Given the description of an element on the screen output the (x, y) to click on. 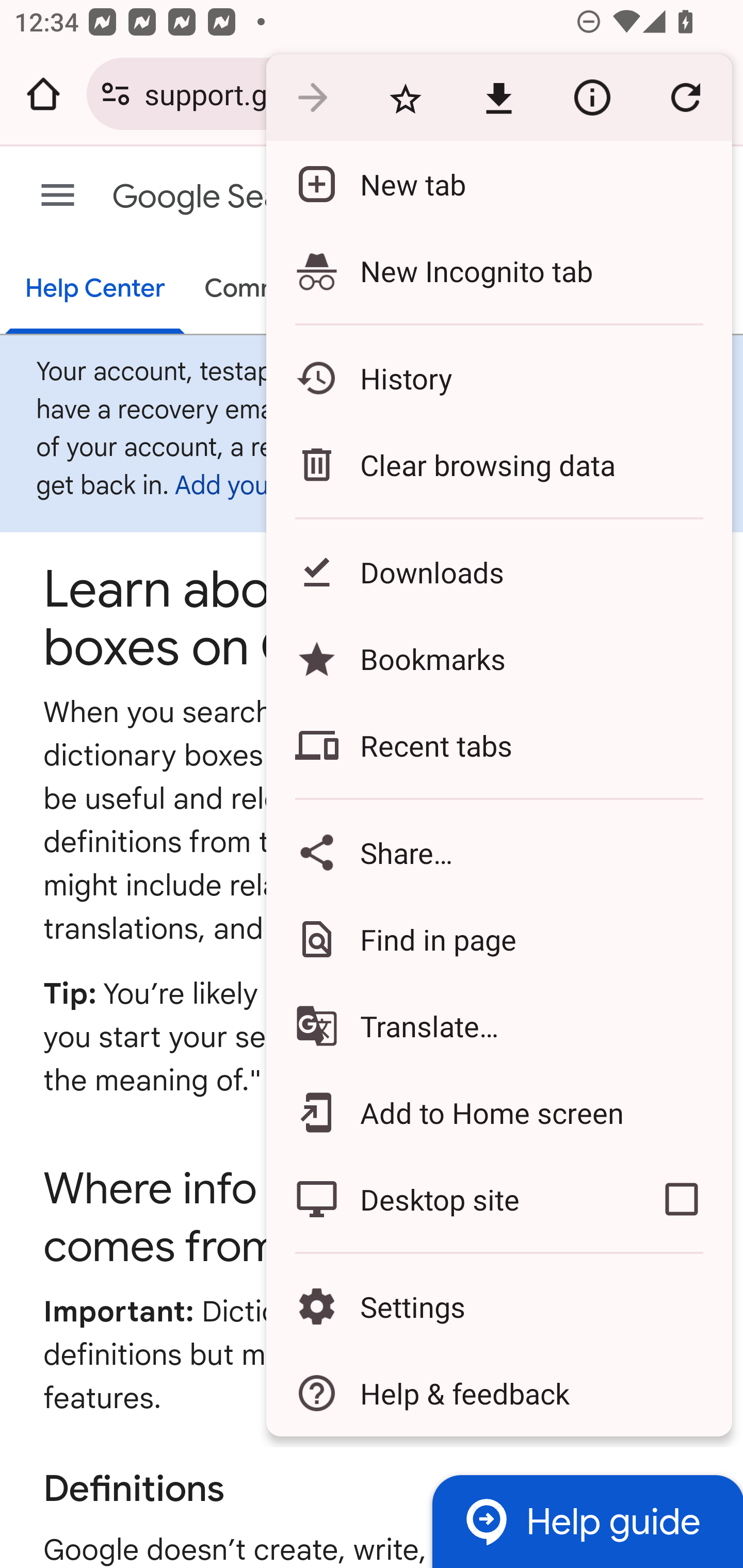
Forward (311, 97)
Bookmark (404, 97)
Download (498, 97)
Page info (591, 97)
Refresh (684, 97)
New tab (498, 184)
New Incognito tab (498, 270)
History (498, 377)
Clear browsing data (498, 464)
Downloads (498, 571)
Bookmarks (498, 658)
Recent tabs (498, 745)
Share… (498, 852)
Find in page (498, 939)
Translate… (498, 1026)
Add to Home screen (498, 1112)
Desktop site Turn on Request desktop site (447, 1198)
Settings (498, 1306)
Help & feedback (498, 1393)
